Given the description of an element on the screen output the (x, y) to click on. 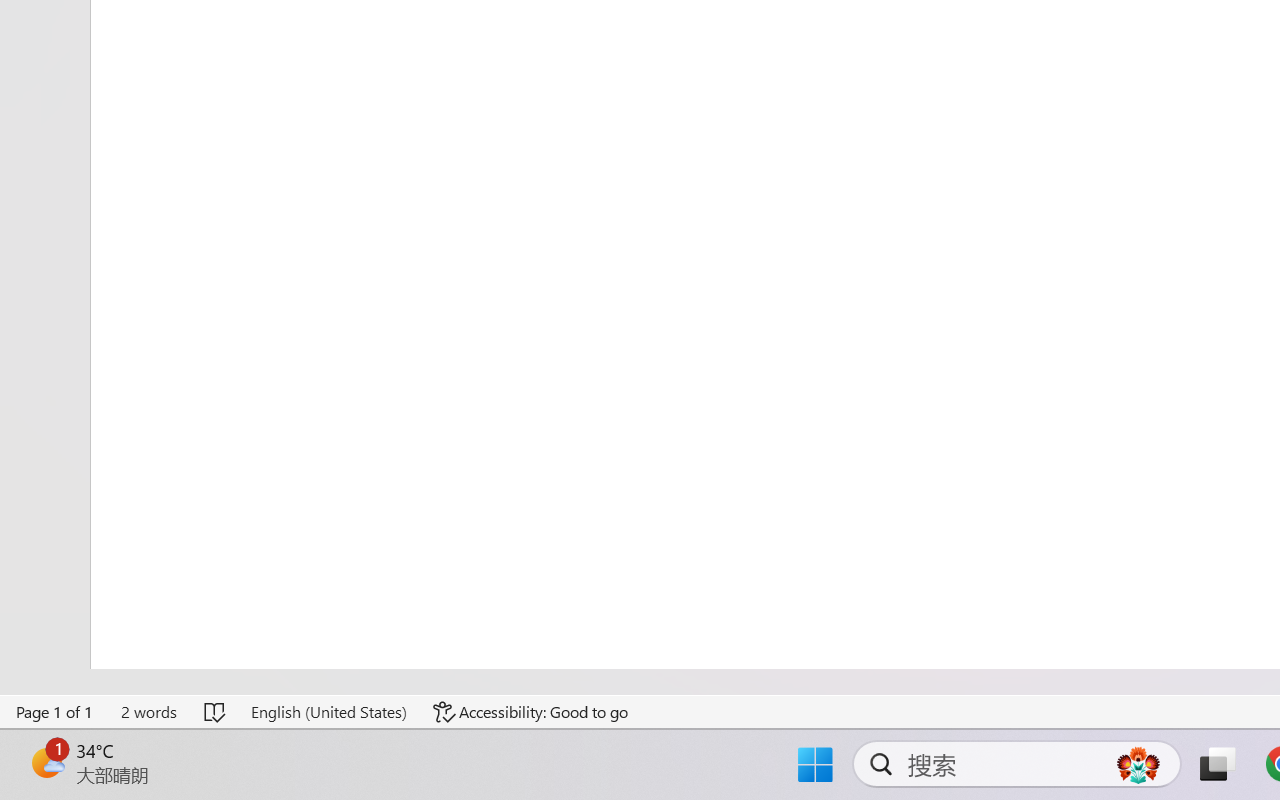
AutomationID: DynamicSearchBoxGleamImage (1138, 764)
Accessibility Checker Accessibility: Good to go (531, 712)
Spelling and Grammar Check No Errors (216, 712)
AutomationID: BadgeAnchorLargeTicker (46, 762)
Page Number Page 1 of 1 (55, 712)
Language English (United States) (328, 712)
